Given the description of an element on the screen output the (x, y) to click on. 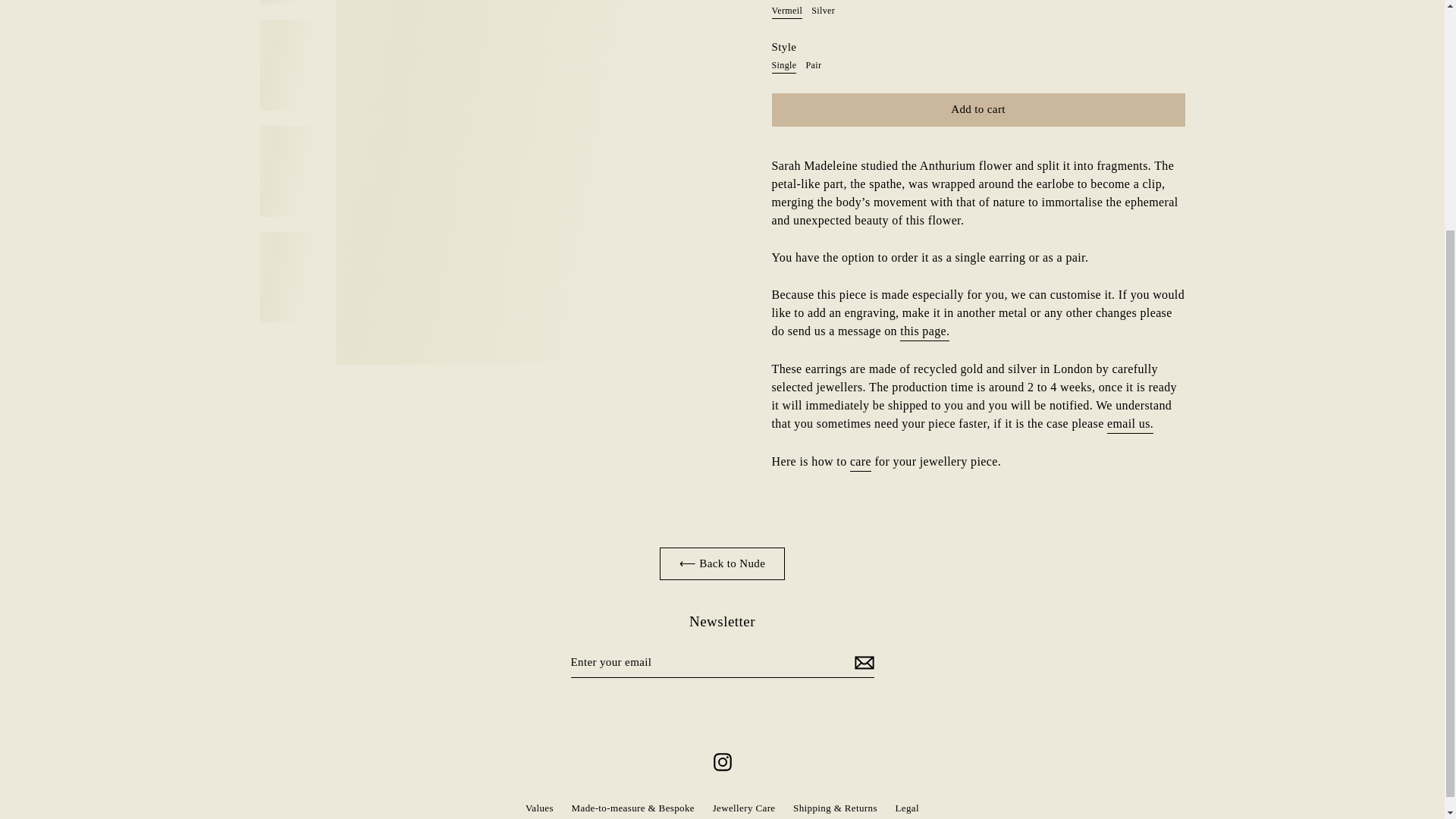
Contact (1129, 424)
Bespoke (924, 331)
Page 8 (978, 193)
Jewellery care (860, 461)
Subscribe (860, 662)
Sarah Madeleine Bru on Instagram (721, 762)
